Given the description of an element on the screen output the (x, y) to click on. 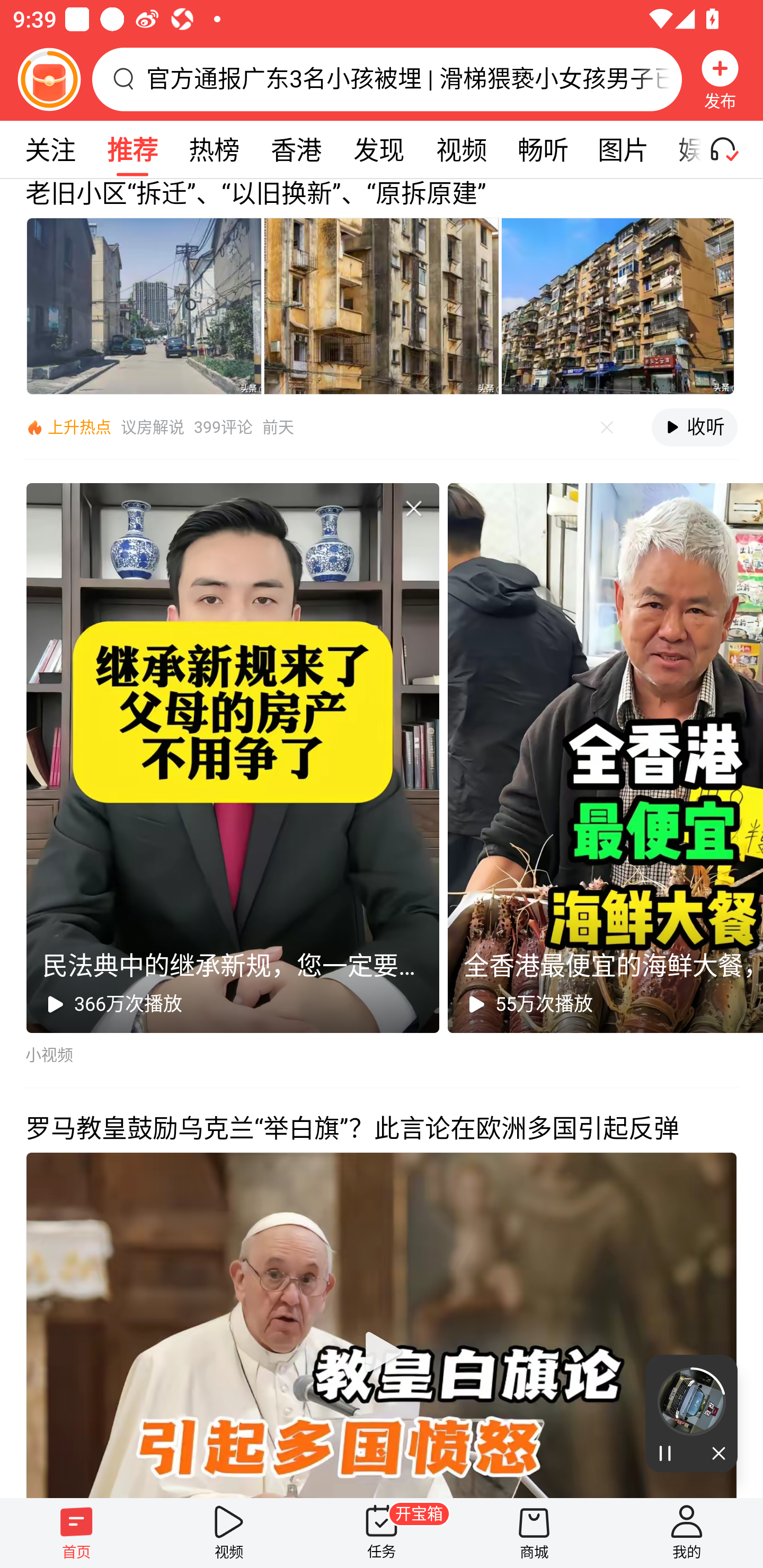
阅读赚金币 (48, 79)
发布 发布，按钮 (720, 78)
关注 (50, 149)
推荐 (132, 149)
热榜 (213, 149)
香港 (295, 149)
发现 (378, 149)
视频 (461, 149)
畅听 (542, 149)
图片 (623, 149)
听一听开关 (732, 149)
内容图片 (143, 305)
内容图片 (381, 305)
内容图片 (617, 305)
收听 (694, 426)
不感兴趣 (607, 427)
不感兴趣 (413, 507)
罗马教皇鼓励乌克兰“举白旗”？此言论在欧洲多国引起反弹 播放视频 视频播放器，双击屏幕打开播放控制 (381, 1292)
播放视频 视频播放器，双击屏幕打开播放控制 (381, 1323)
播放视频 (381, 1351)
当前进度 21% 暂停 关闭 (691, 1413)
暂停 (668, 1454)
关闭 (714, 1454)
首页 (76, 1532)
视频 (228, 1532)
任务 开宝箱 (381, 1532)
商城 (533, 1532)
我的 (686, 1532)
